Given the description of an element on the screen output the (x, y) to click on. 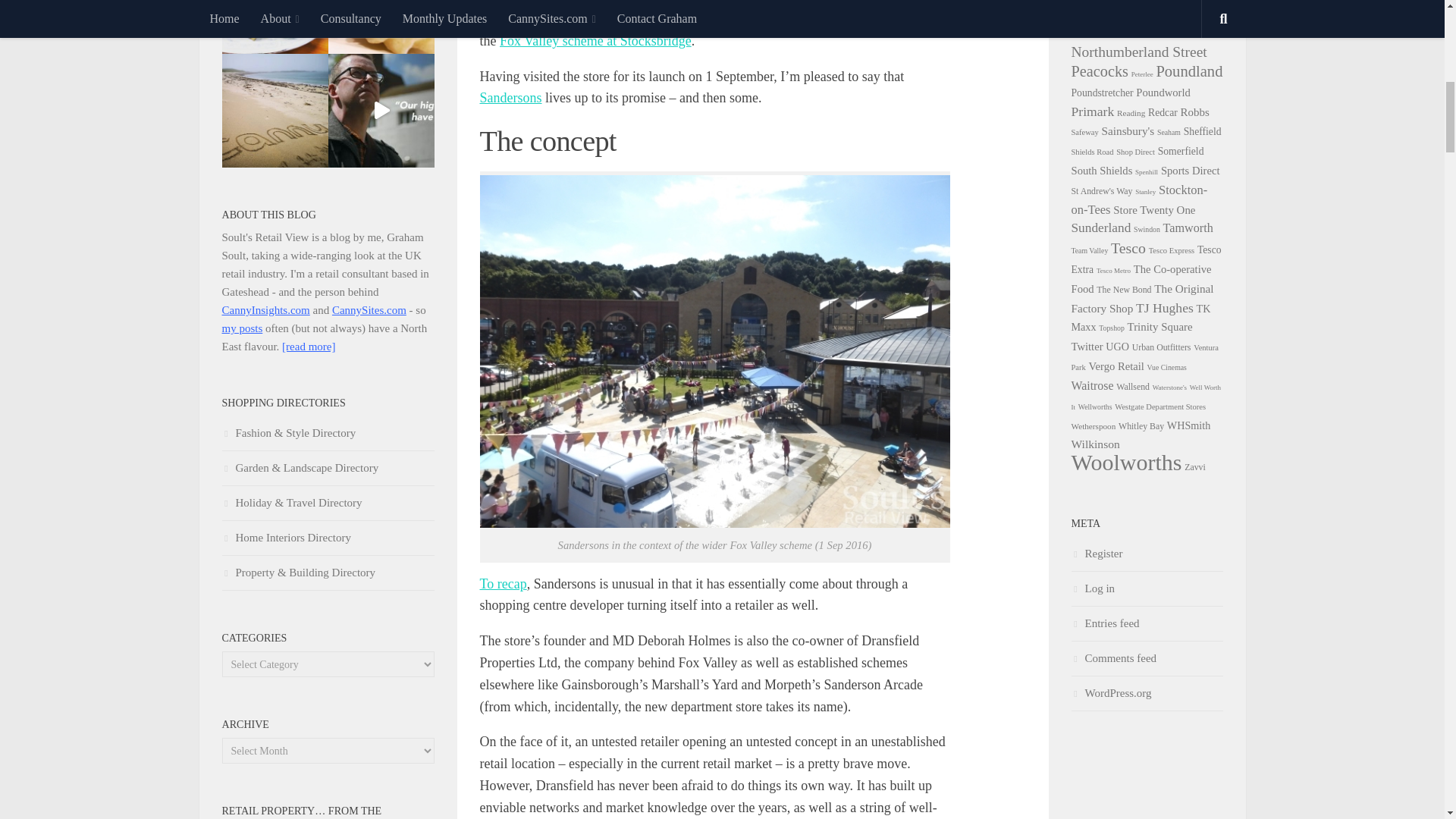
trailed the opening of Sandersons in Sheffield (735, 2)
Fox Valley scheme at Stocksbridge (595, 40)
Sandersons (510, 97)
